Given the description of an element on the screen output the (x, y) to click on. 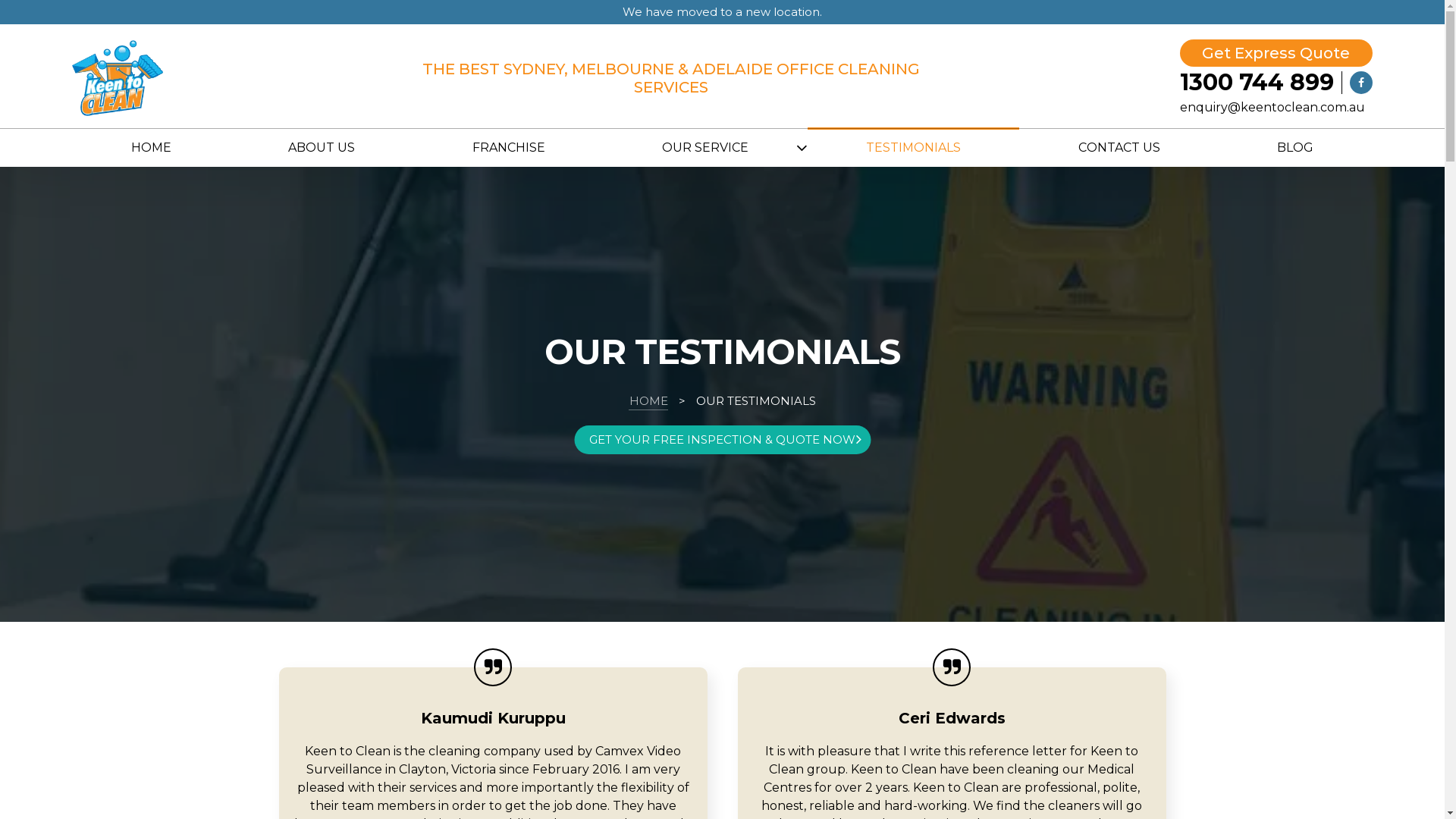
BLOG Element type: text (1295, 147)
GET YOUR FREE INSPECTION & QUOTE NOW Element type: text (722, 439)
TESTIMONIALS Element type: text (913, 147)
1300 744 899 Element type: text (1260, 82)
FRANCHISE Element type: text (509, 147)
Get Express Quote Element type: text (1275, 52)
HOME Element type: text (648, 401)
OUR SERVICE Element type: text (705, 147)
HOME Element type: text (150, 147)
ABOUT US Element type: text (321, 147)
CONTACT US Element type: text (1118, 147)
enquiry@keentoclean.com.au Element type: text (1272, 107)
